Given the description of an element on the screen output the (x, y) to click on. 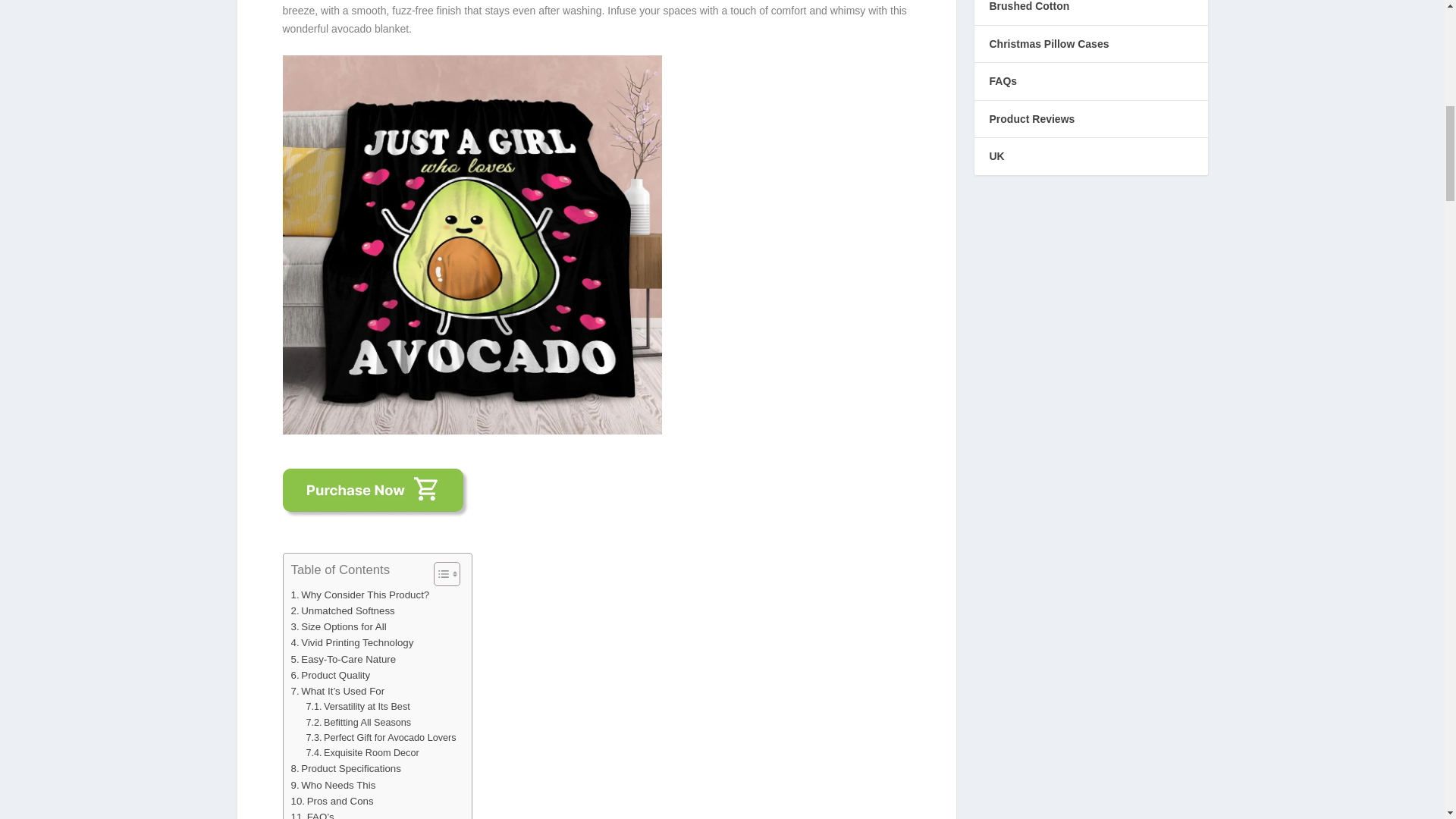
Unmatched Softness (342, 610)
Product Quality (331, 675)
Unmatched Softness (342, 610)
Versatility at Its Best (357, 706)
Easy-To-Care Nature (343, 659)
Easy-To-Care Nature (343, 659)
Why Consider This Product? (360, 594)
Why Consider This Product? (360, 594)
Befitting All Seasons (357, 722)
Product Quality (331, 675)
Size Options for All (339, 626)
